Given the description of an element on the screen output the (x, y) to click on. 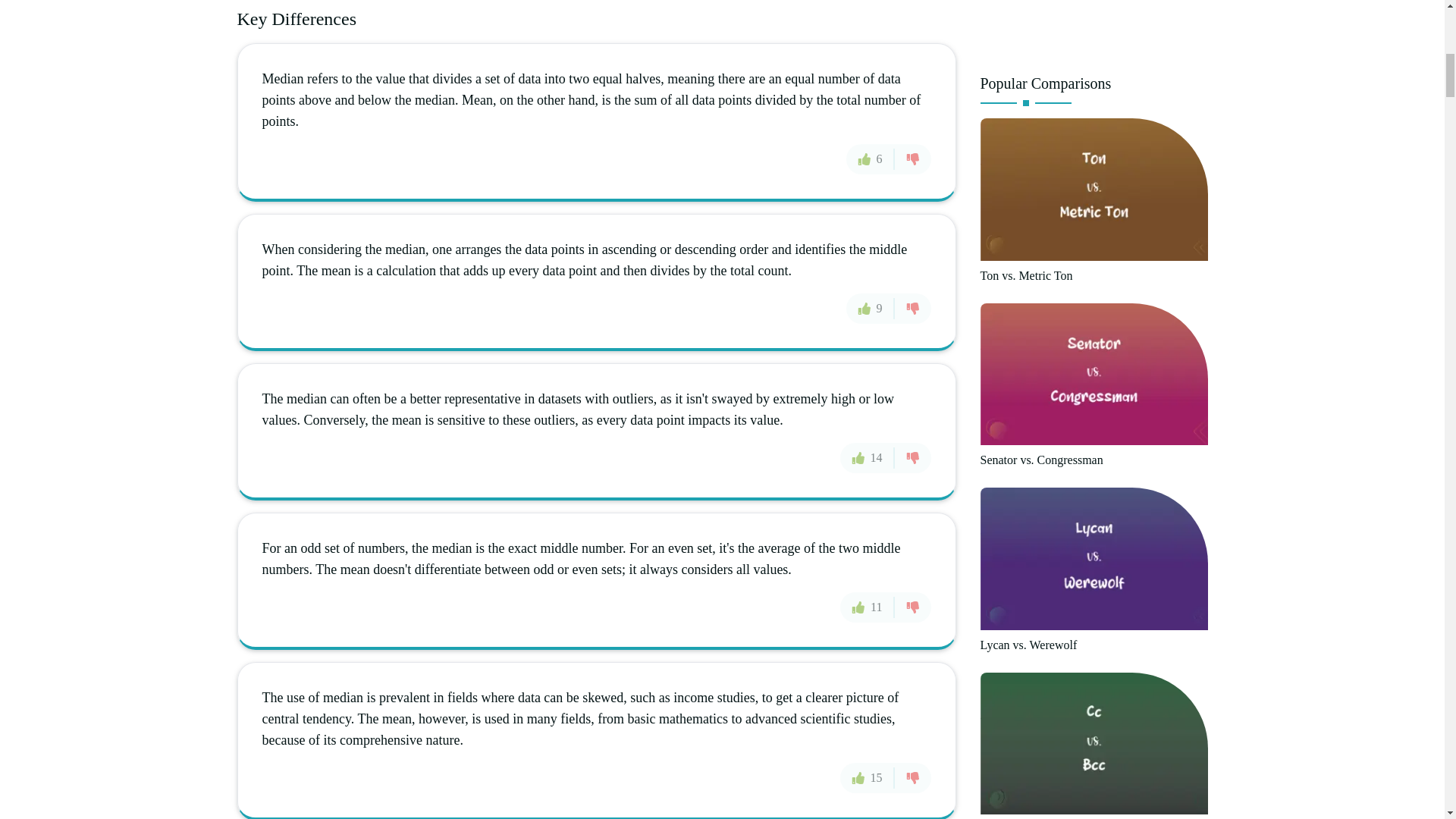
14 (867, 458)
Advertisement (1093, 30)
9 (870, 307)
6 (870, 159)
15 (867, 777)
11 (866, 606)
